Given the description of an element on the screen output the (x, y) to click on. 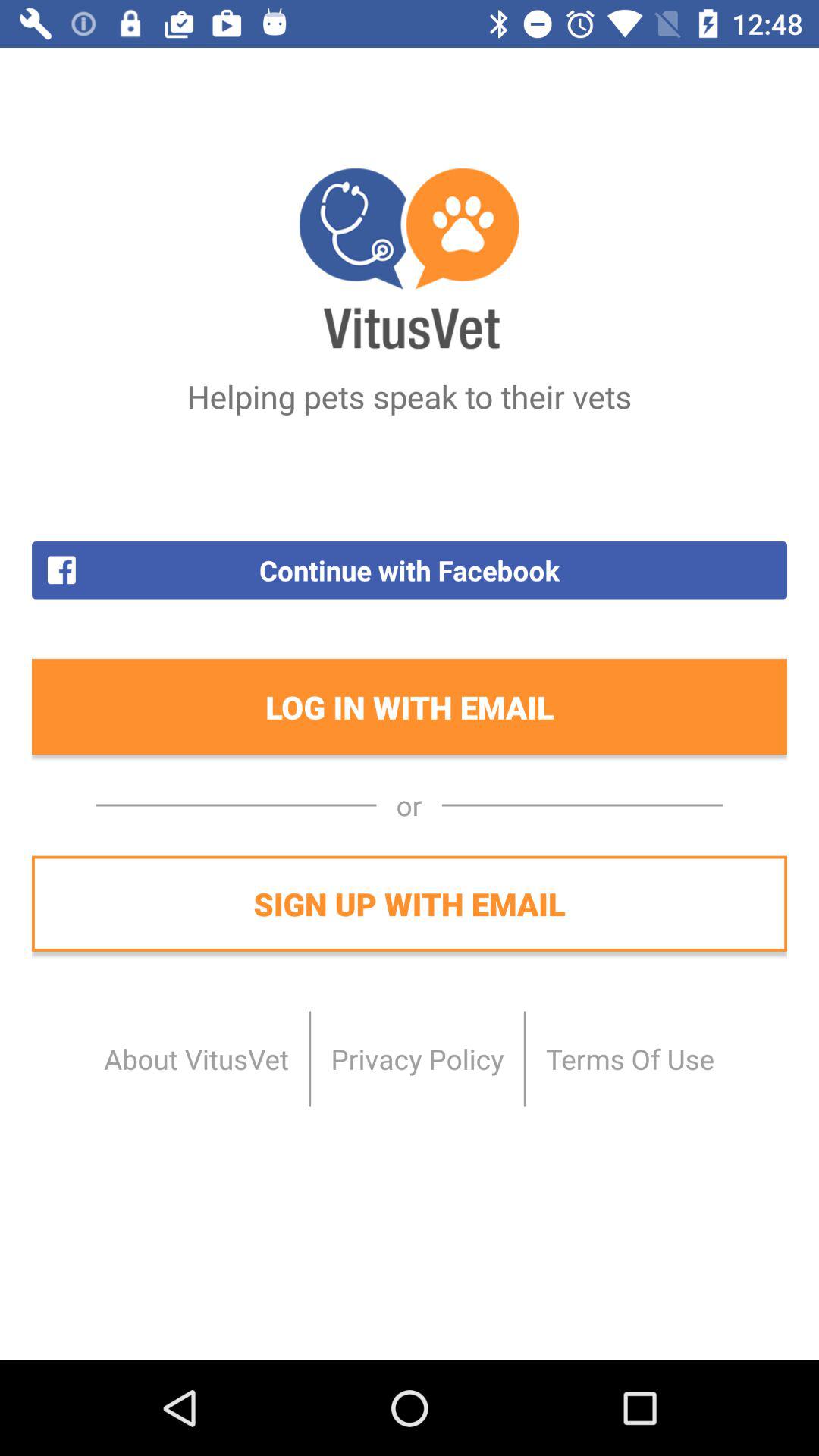
turn on item above the or item (409, 706)
